Given the description of an element on the screen output the (x, y) to click on. 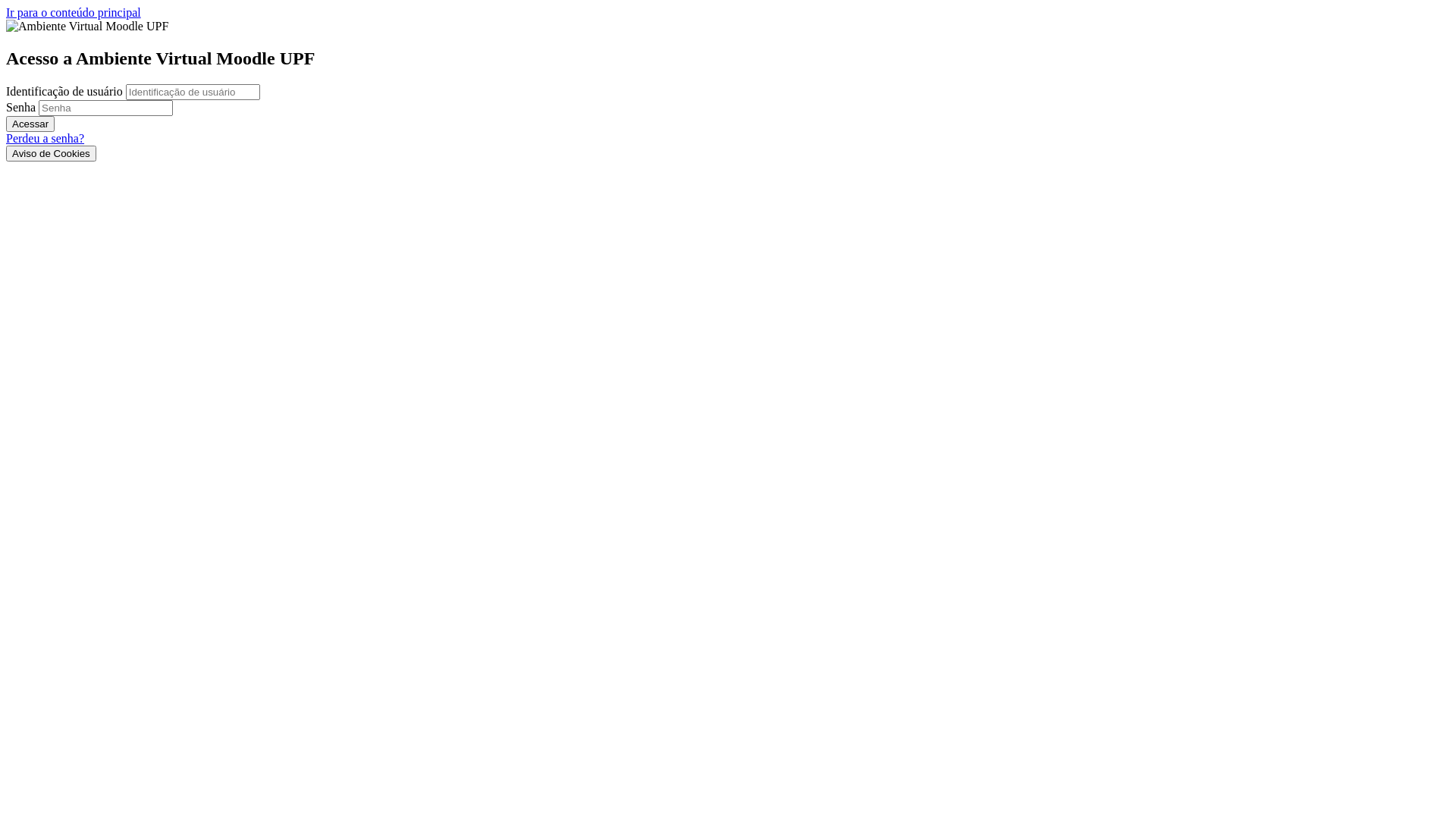
Acessar Element type: text (30, 123)
Aviso de Cookies Element type: text (51, 153)
Perdeu a senha? Element type: text (45, 137)
